Given the description of an element on the screen output the (x, y) to click on. 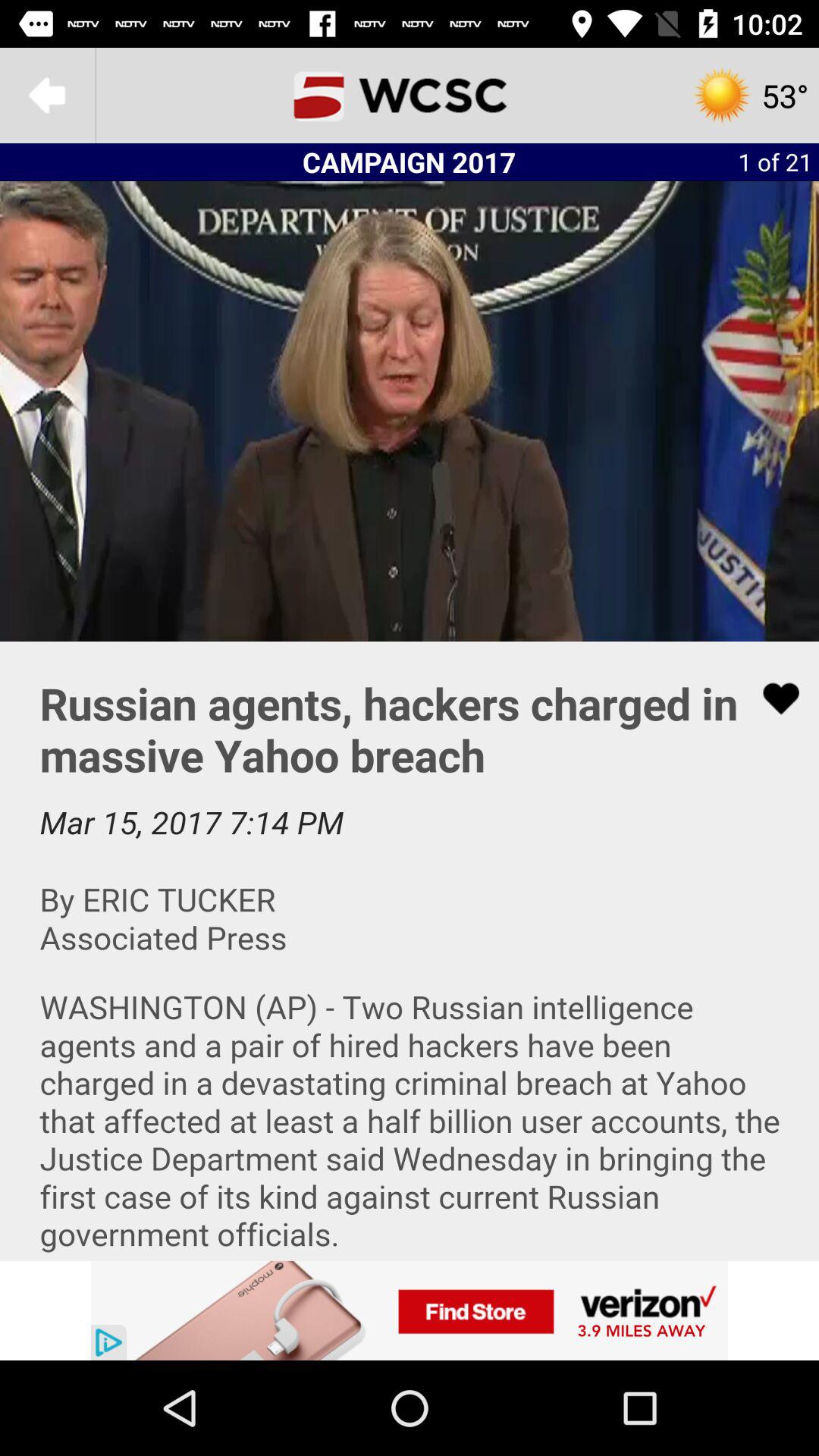
add to favorites (771, 698)
